Given the description of an element on the screen output the (x, y) to click on. 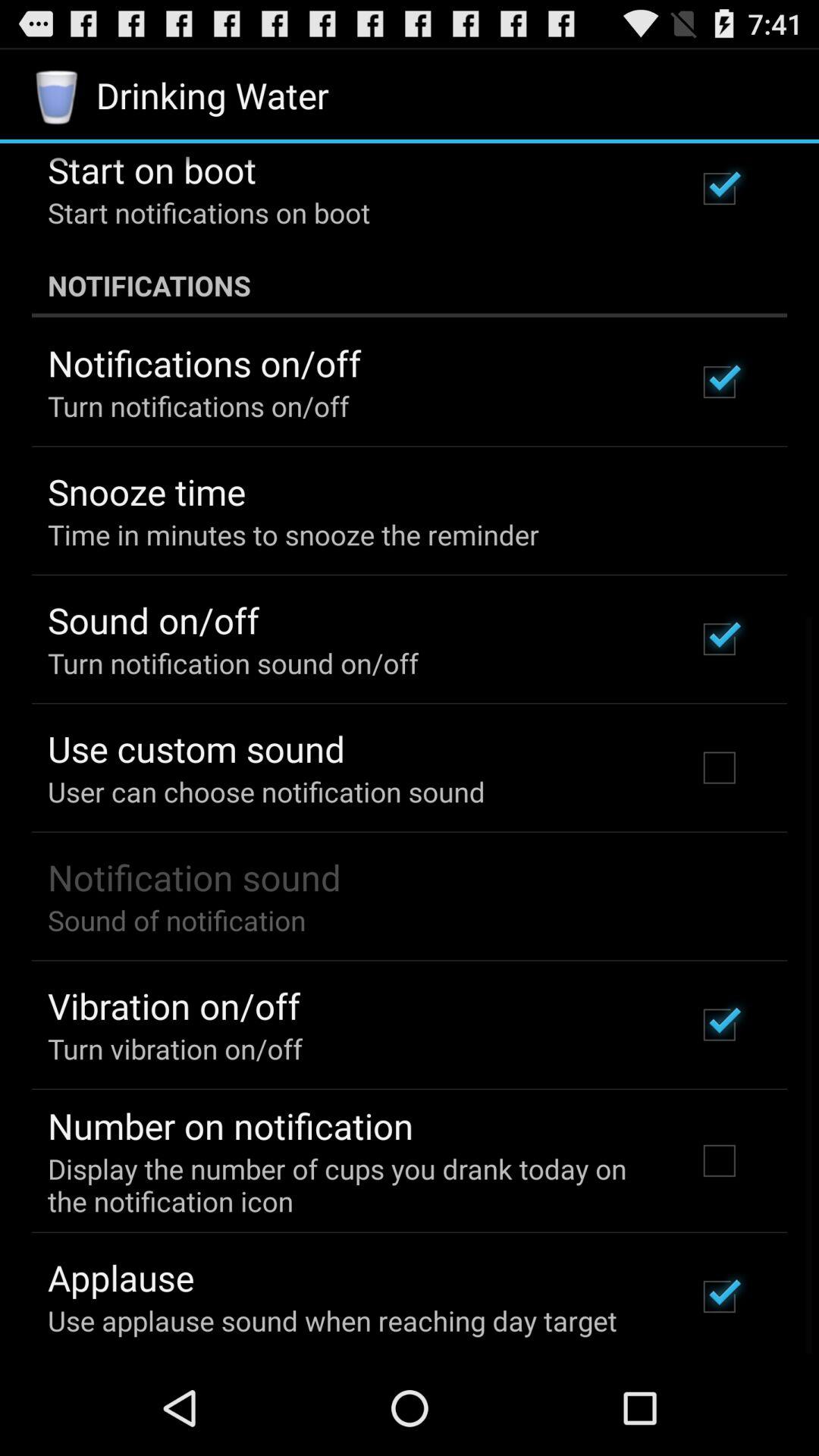
click on the icon right next to notifications onoff (719, 381)
select the third option on the top right side of the web page (719, 639)
